Given the description of an element on the screen output the (x, y) to click on. 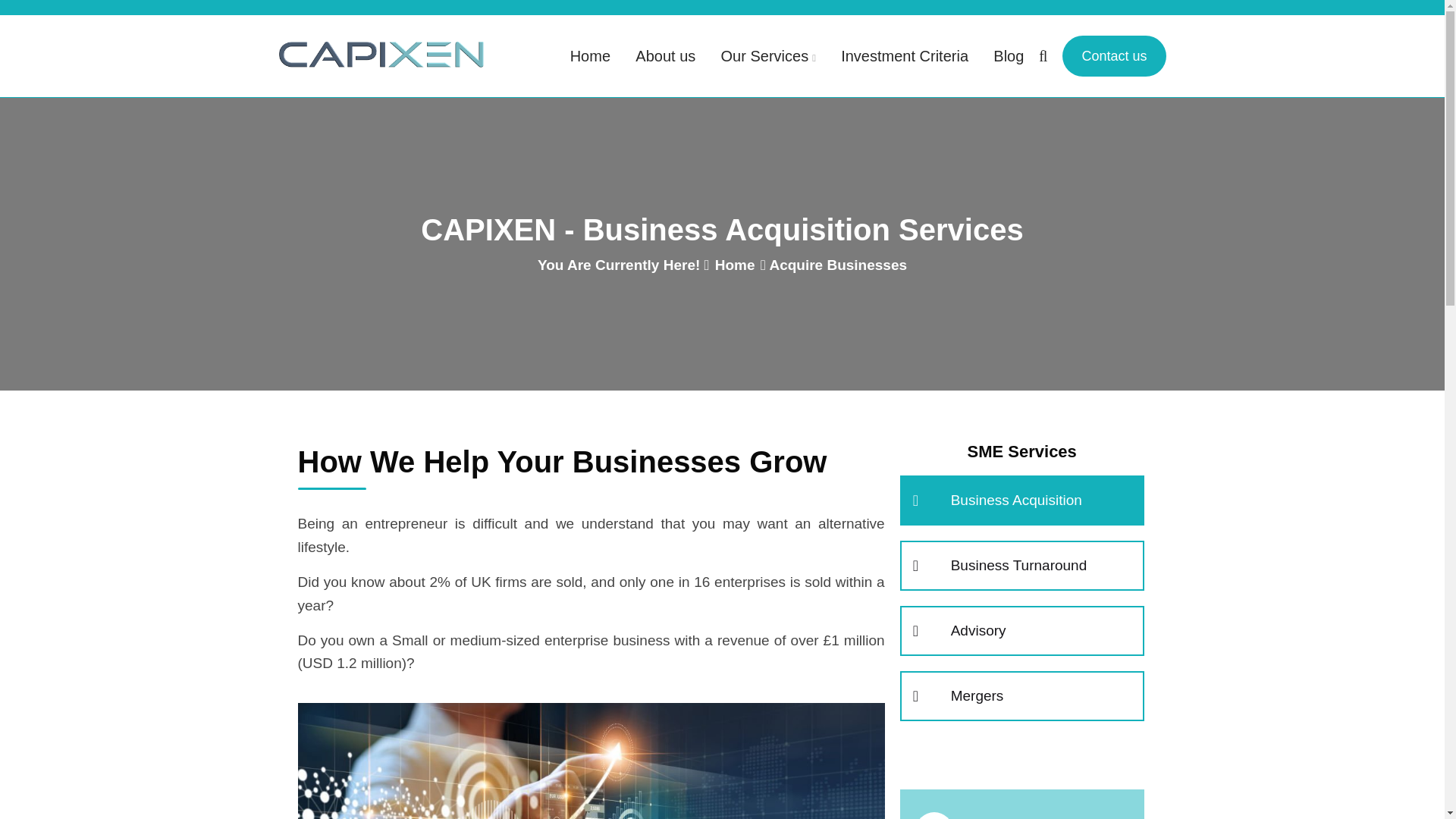
About us (664, 55)
Investment Criteria (904, 55)
Home (590, 55)
Advisory (1021, 630)
Business Turnaround (1021, 565)
Our Services (767, 55)
CAPIXEN (381, 53)
Blog (1007, 55)
Mergers (1021, 695)
Business Acquisition (1021, 500)
